Given the description of an element on the screen output the (x, y) to click on. 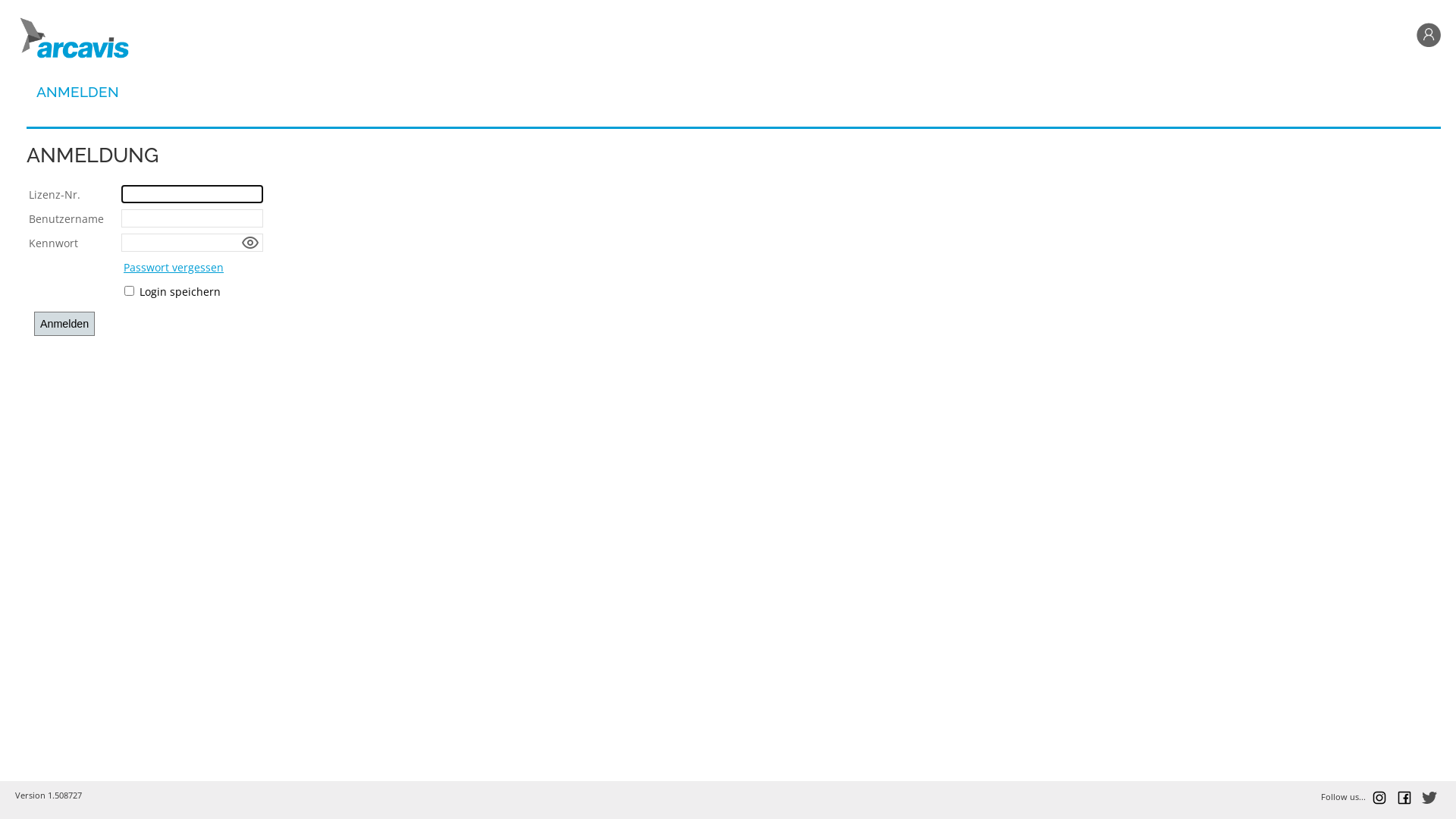
ANMELDEN Element type: text (77, 91)
Anmelden Element type: text (64, 323)
Passwort vergessen Element type: text (173, 267)
